Given the description of an element on the screen output the (x, y) to click on. 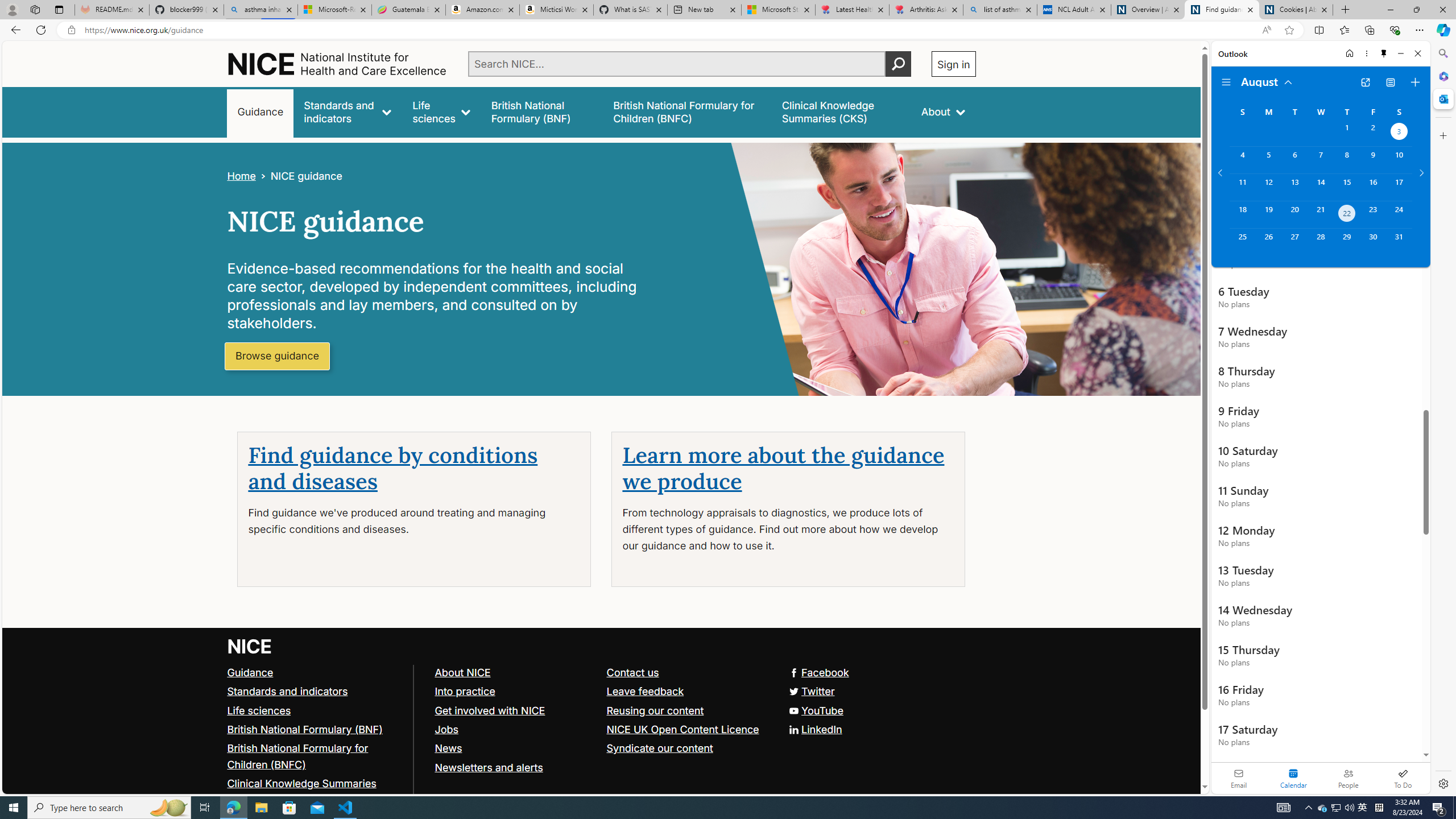
Monday, August 19, 2024.  (1268, 214)
Tuesday, August 13, 2024.  (1294, 186)
NICE UK Open Content Licence (686, 729)
Selected calendar module. Date today is 22 (1293, 777)
Find guidance | NICE (1221, 9)
Sunday, August 25, 2024.  (1242, 241)
People (1347, 777)
